Given the description of an element on the screen output the (x, y) to click on. 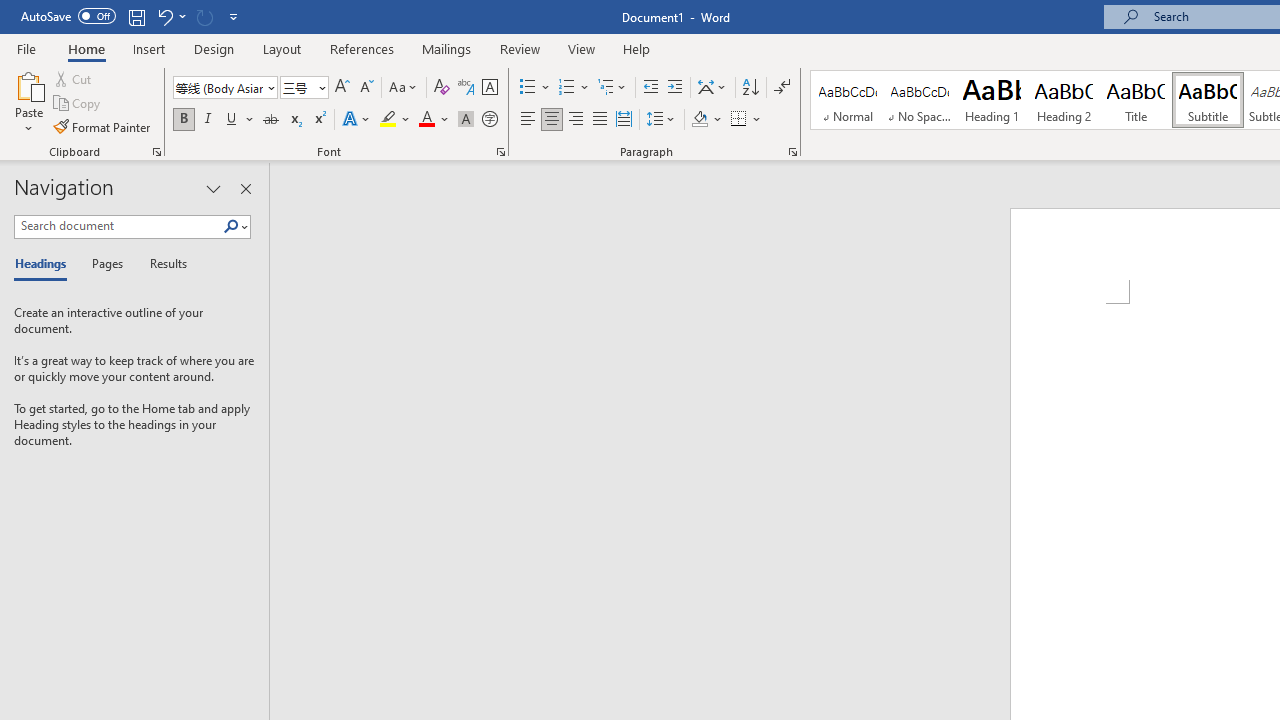
Undo Apply Quick Style (164, 15)
